Given the description of an element on the screen output the (x, y) to click on. 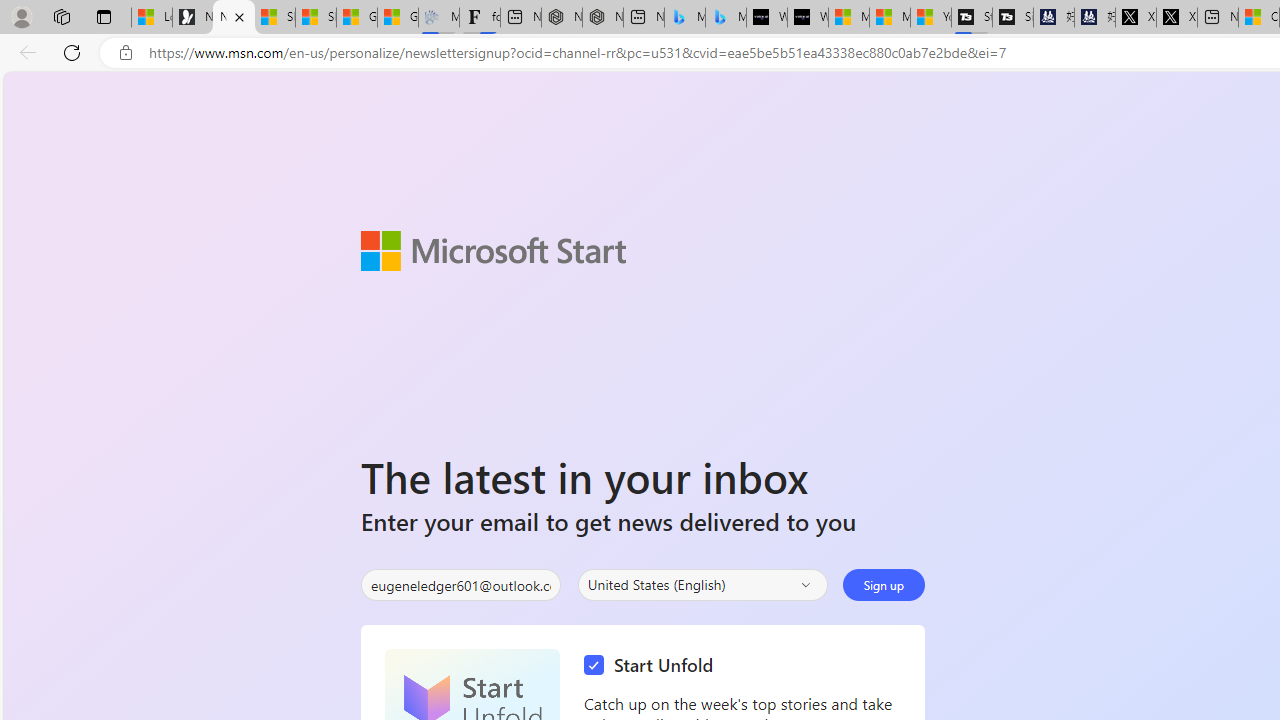
Sign up (883, 584)
Microsoft Start (493, 249)
Streaming Coverage | T3 (971, 17)
Enter your email (460, 585)
Microsoft Start (890, 17)
Microsoft Bing Travel - Shangri-La Hotel Bangkok (726, 17)
Start Unfold (653, 665)
